Given the description of an element on the screen output the (x, y) to click on. 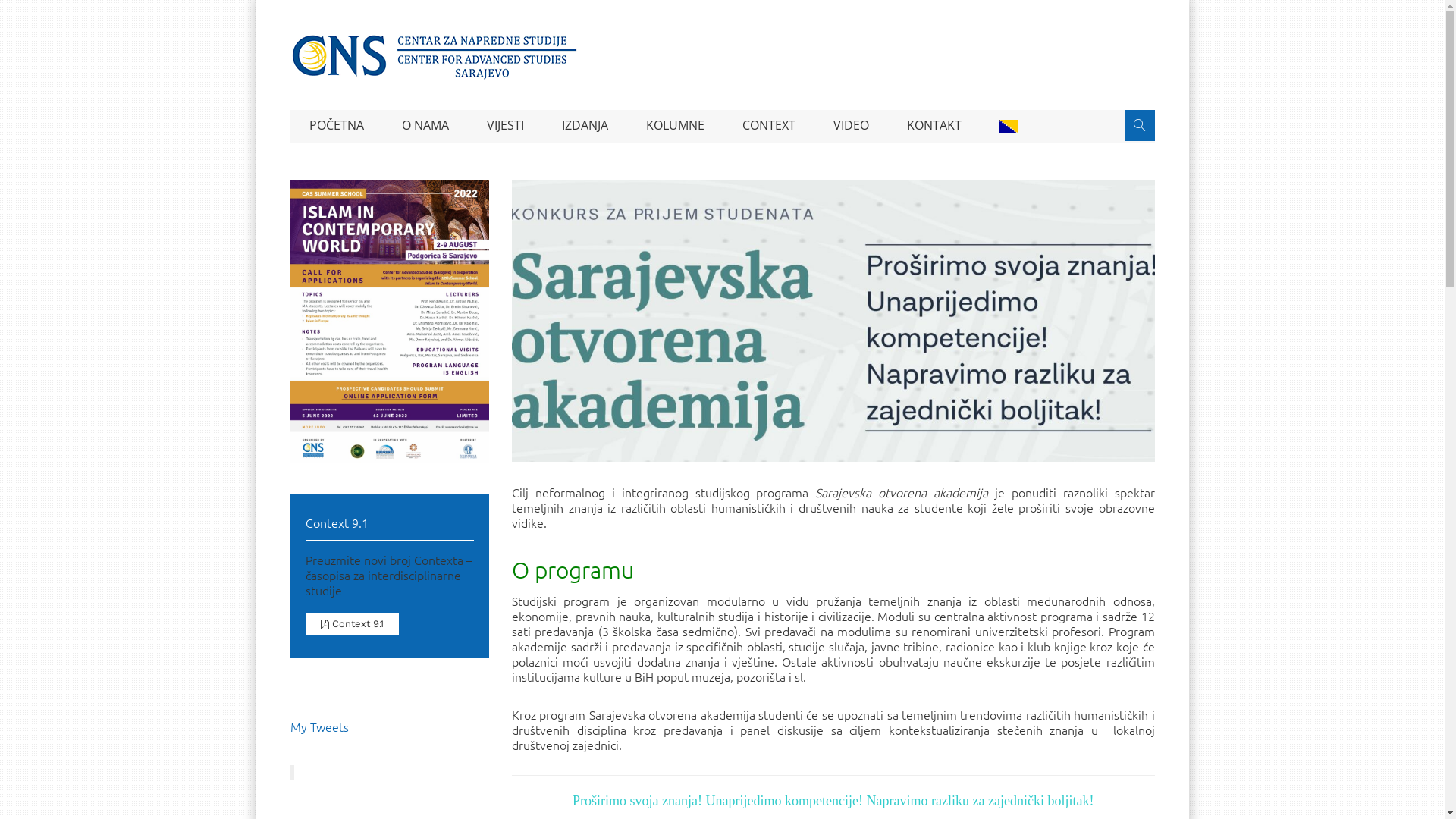
VIDEO Element type: text (851, 125)
CONTEXT Element type: text (768, 125)
O NAMA Element type: text (424, 125)
KOLUMNE Element type: text (674, 125)
IZDANJA Element type: text (584, 125)
Context 9.1 Element type: text (351, 623)
My Tweets Element type: text (318, 726)
KONTAKT Element type: text (933, 125)
VIJESTI Element type: text (504, 125)
